Given the description of an element on the screen output the (x, y) to click on. 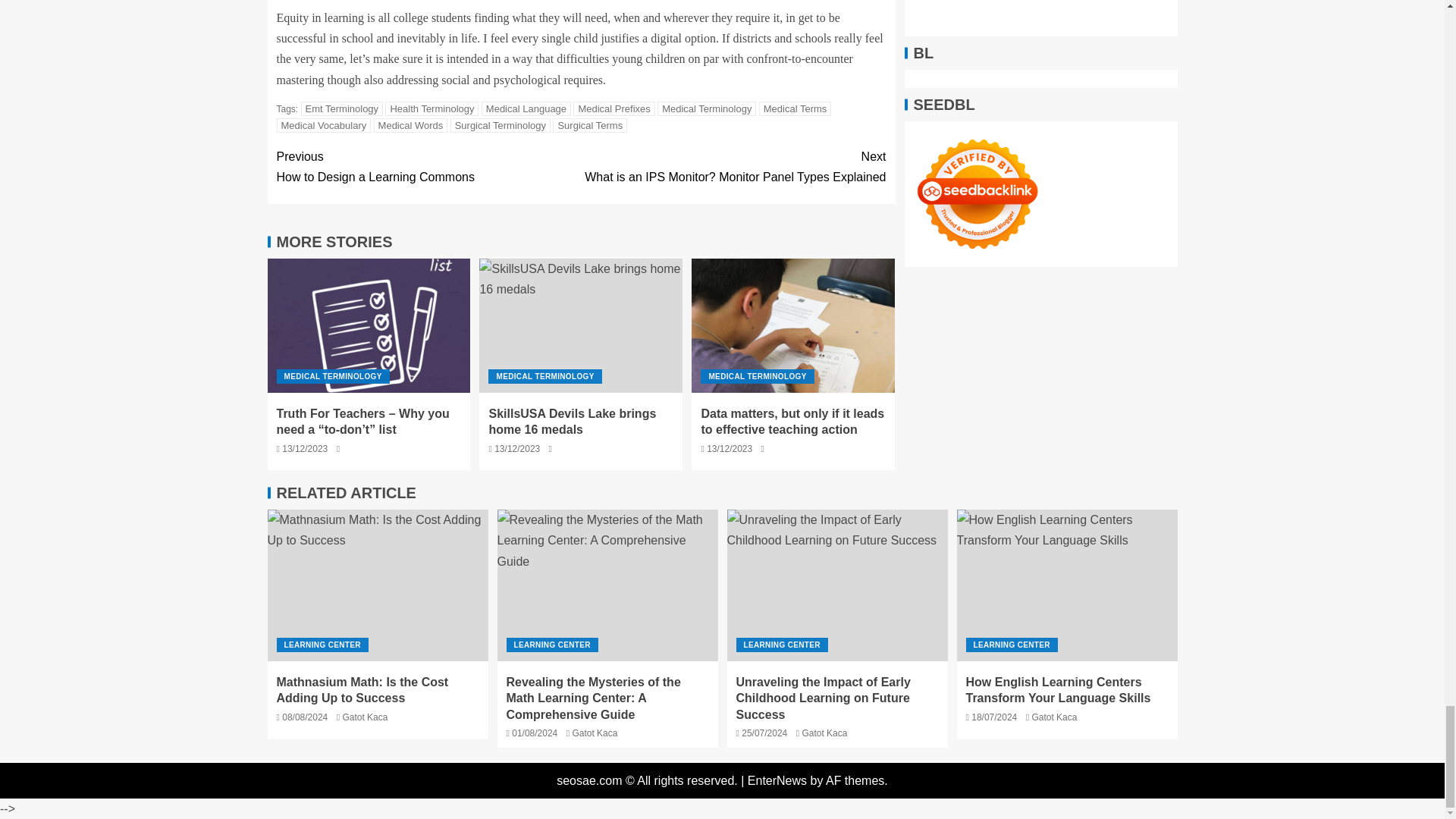
Emt Terminology (342, 108)
Medical Language (525, 108)
Health Terminology (432, 108)
Medical Prefixes (613, 108)
Medical Terminology (706, 108)
SkillsUSA Devils Lake brings home 16 medals (580, 325)
How English Learning Centers Transform Your Language Skills (1066, 584)
